Given the description of an element on the screen output the (x, y) to click on. 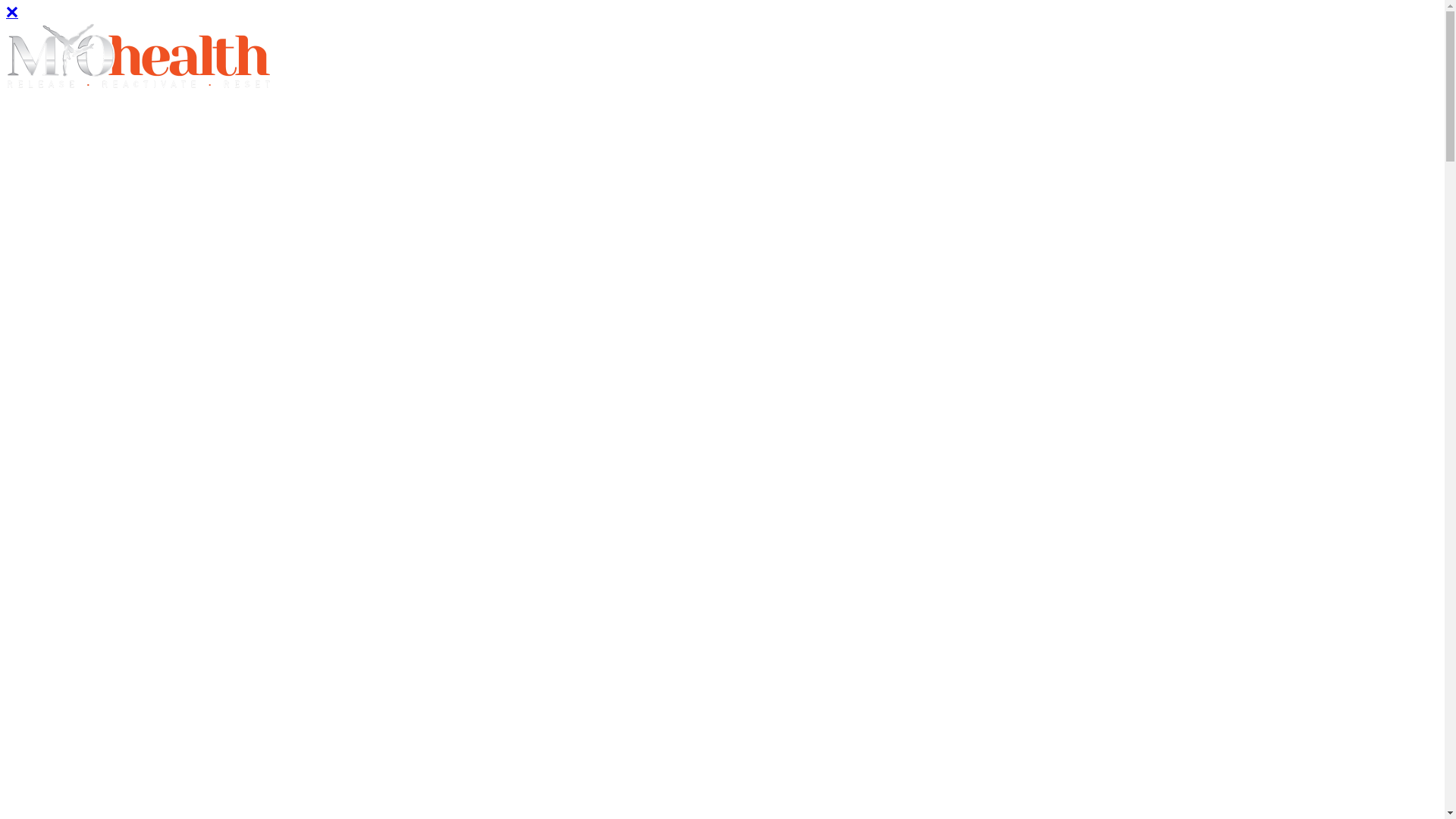
Site logo Element type: hover (138, 88)
